Given the description of an element on the screen output the (x, y) to click on. 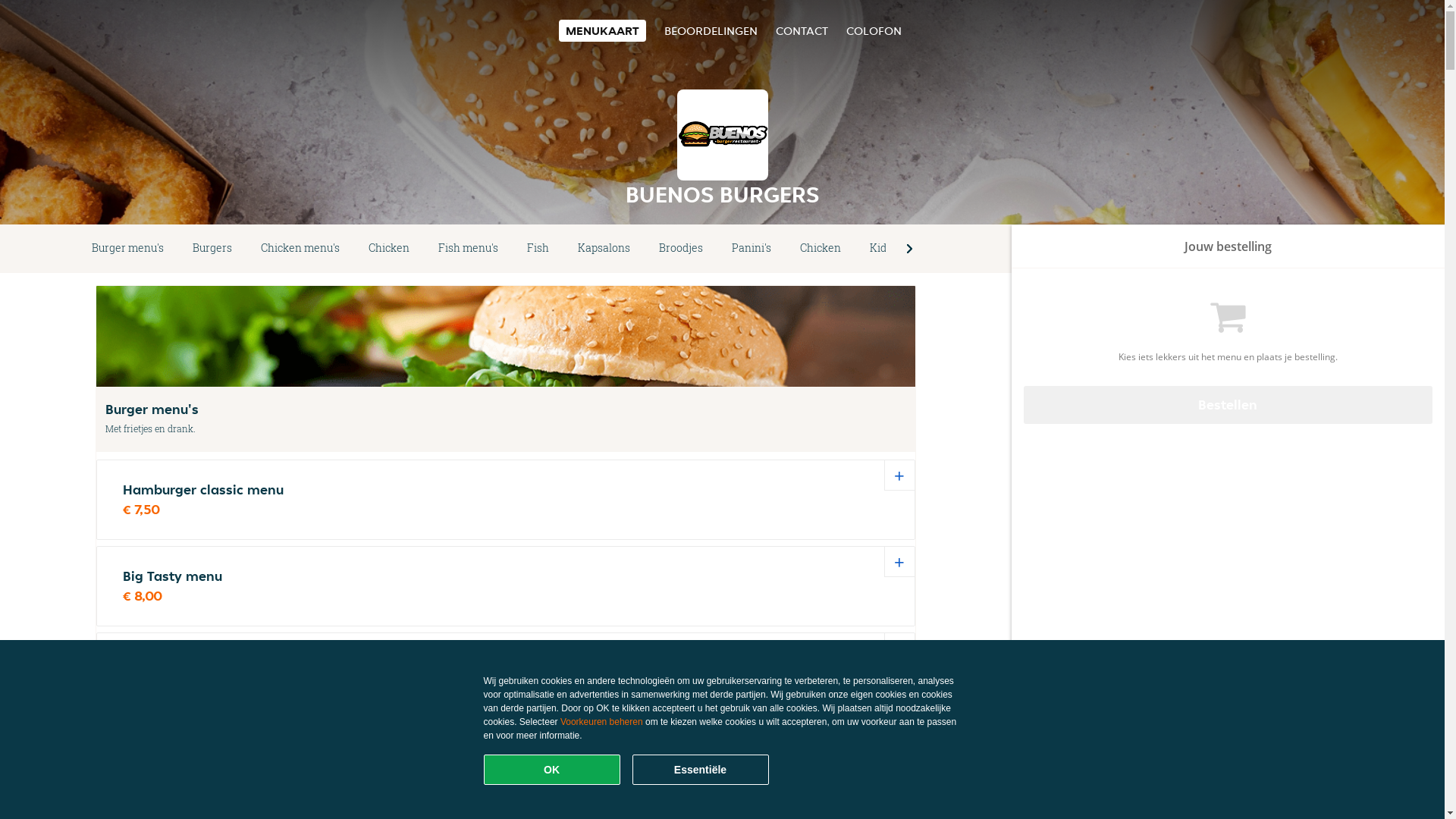
Chicken Element type: text (388, 248)
Chicken menu's Element type: text (300, 248)
Bestellen Element type: text (1228, 404)
Fish menu's Element type: text (467, 248)
Chicken Element type: text (820, 248)
Panini's Element type: text (751, 248)
Kids menu's Element type: text (899, 248)
MENUKAART Element type: text (601, 30)
Kapsalons Element type: text (603, 248)
OK Element type: text (551, 769)
Fish Element type: text (537, 248)
COLOFON Element type: text (873, 30)
BEOORDELINGEN Element type: text (710, 30)
Burgers Element type: text (212, 248)
Burger menu's Element type: text (127, 248)
Broodjes Element type: text (680, 248)
CONTACT Element type: text (801, 30)
Voorkeuren beheren Element type: text (601, 721)
